Given the description of an element on the screen output the (x, y) to click on. 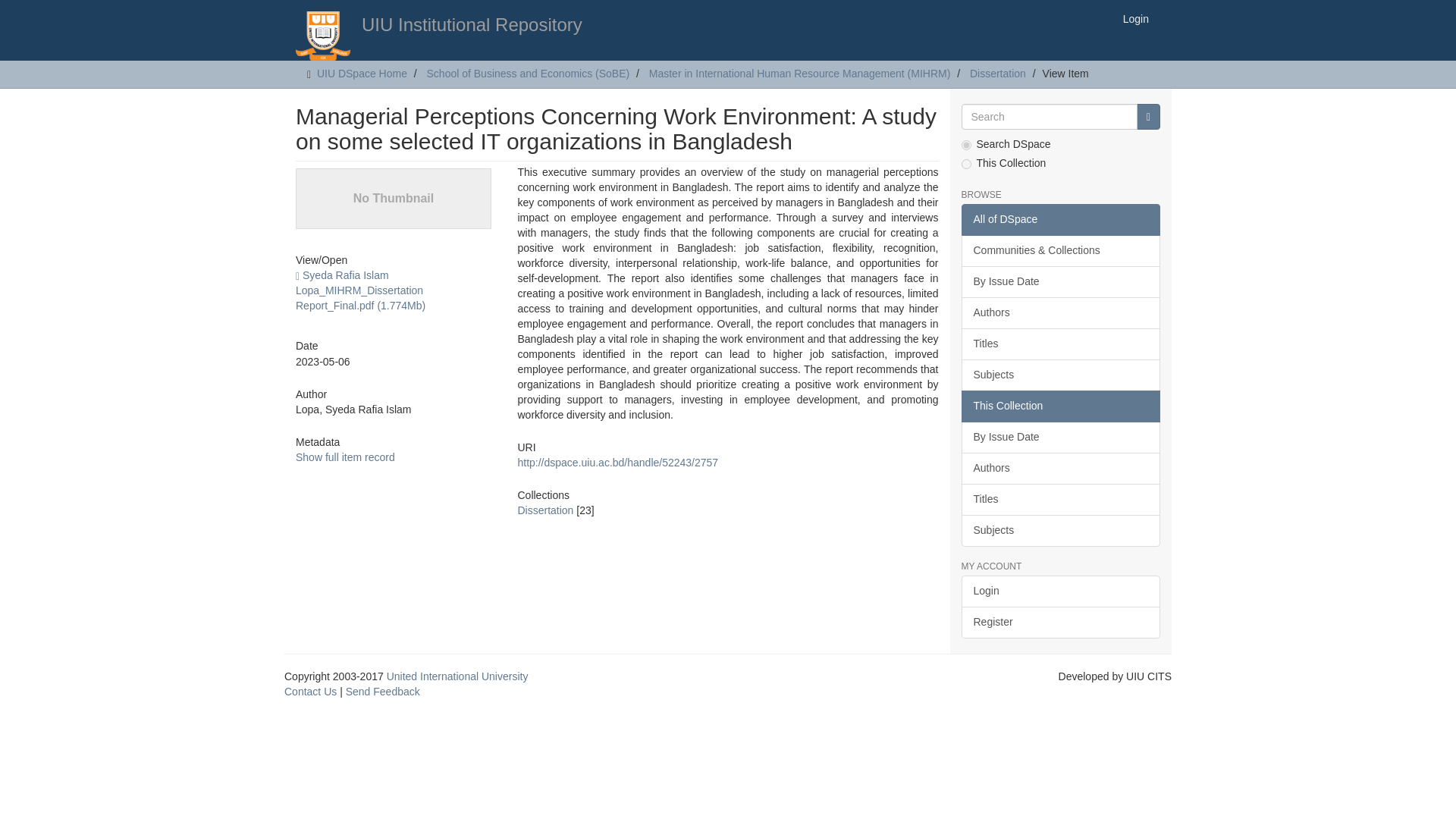
By Issue Date (1060, 437)
United International University (457, 676)
By Issue Date (1060, 282)
Go (1148, 116)
All of DSpace (1060, 219)
Dissertation (544, 510)
Dissertation (997, 73)
Register (1060, 622)
UIU DSpace Home (362, 73)
Contact Us (309, 691)
